Given the description of an element on the screen output the (x, y) to click on. 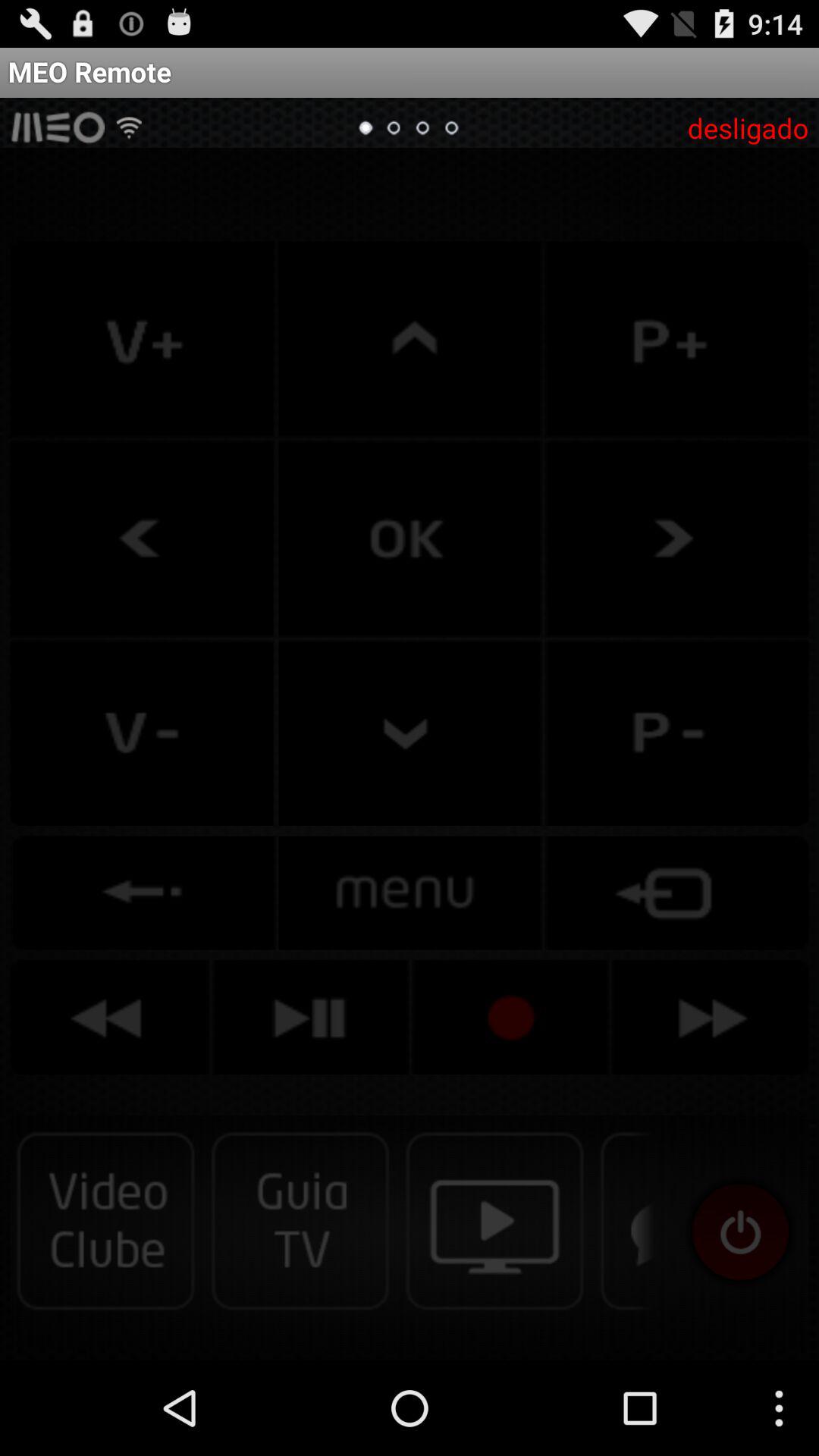
flip to desligado app (747, 127)
